Given the description of an element on the screen output the (x, y) to click on. 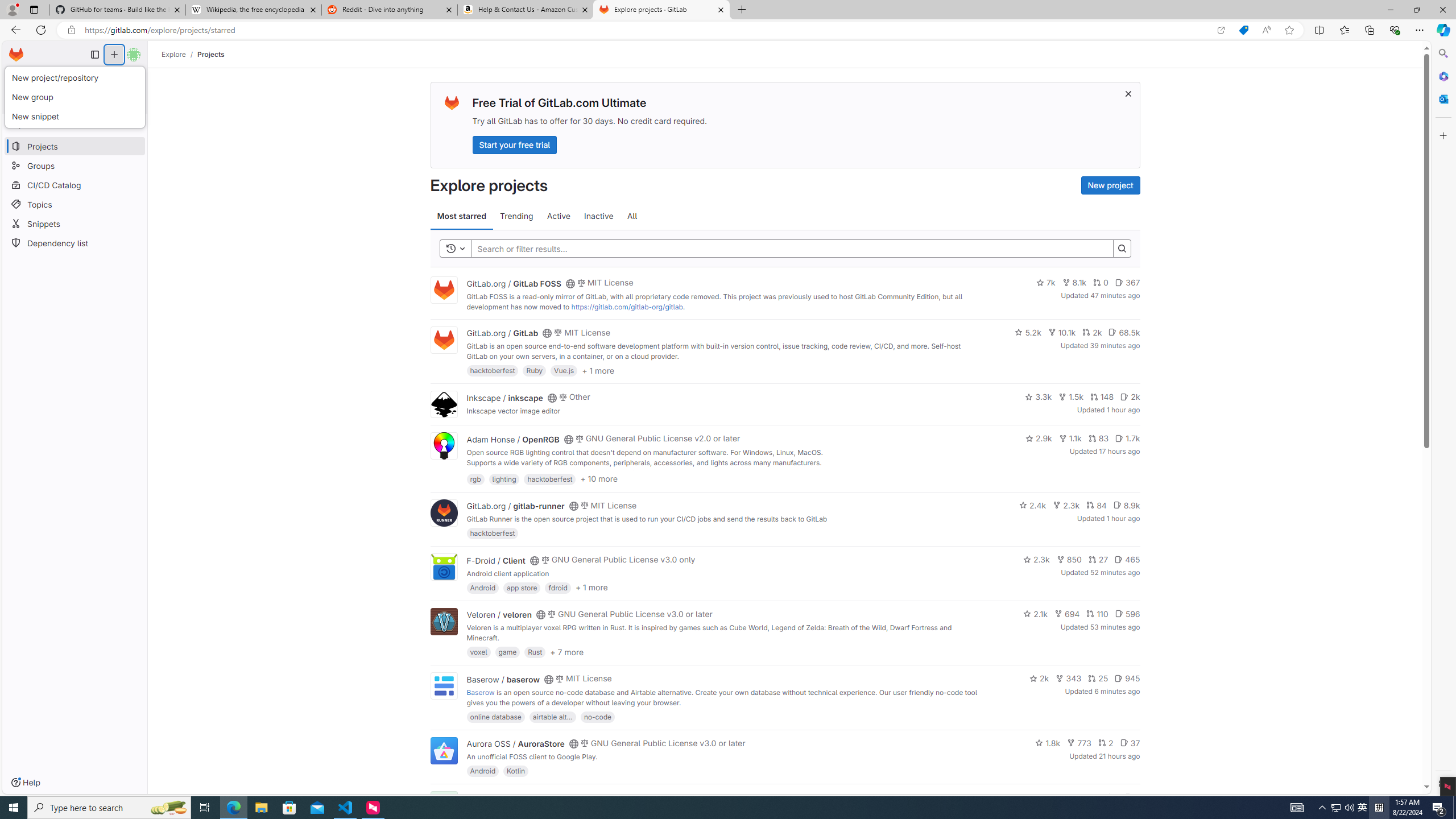
Veloren / veloren (498, 614)
Class: s16 gl-icon gl-button-icon  (1127, 93)
27 (1097, 559)
https://gitlab.com/gitlab-org/gitlab (626, 306)
Topics (74, 203)
7k (1045, 282)
5.2k (1027, 331)
Class: s14 gl-mr-2 (1128, 796)
Open in app (1220, 29)
Dependency list (74, 242)
1.8k (1048, 742)
6 (1132, 797)
